Given the description of an element on the screen output the (x, y) to click on. 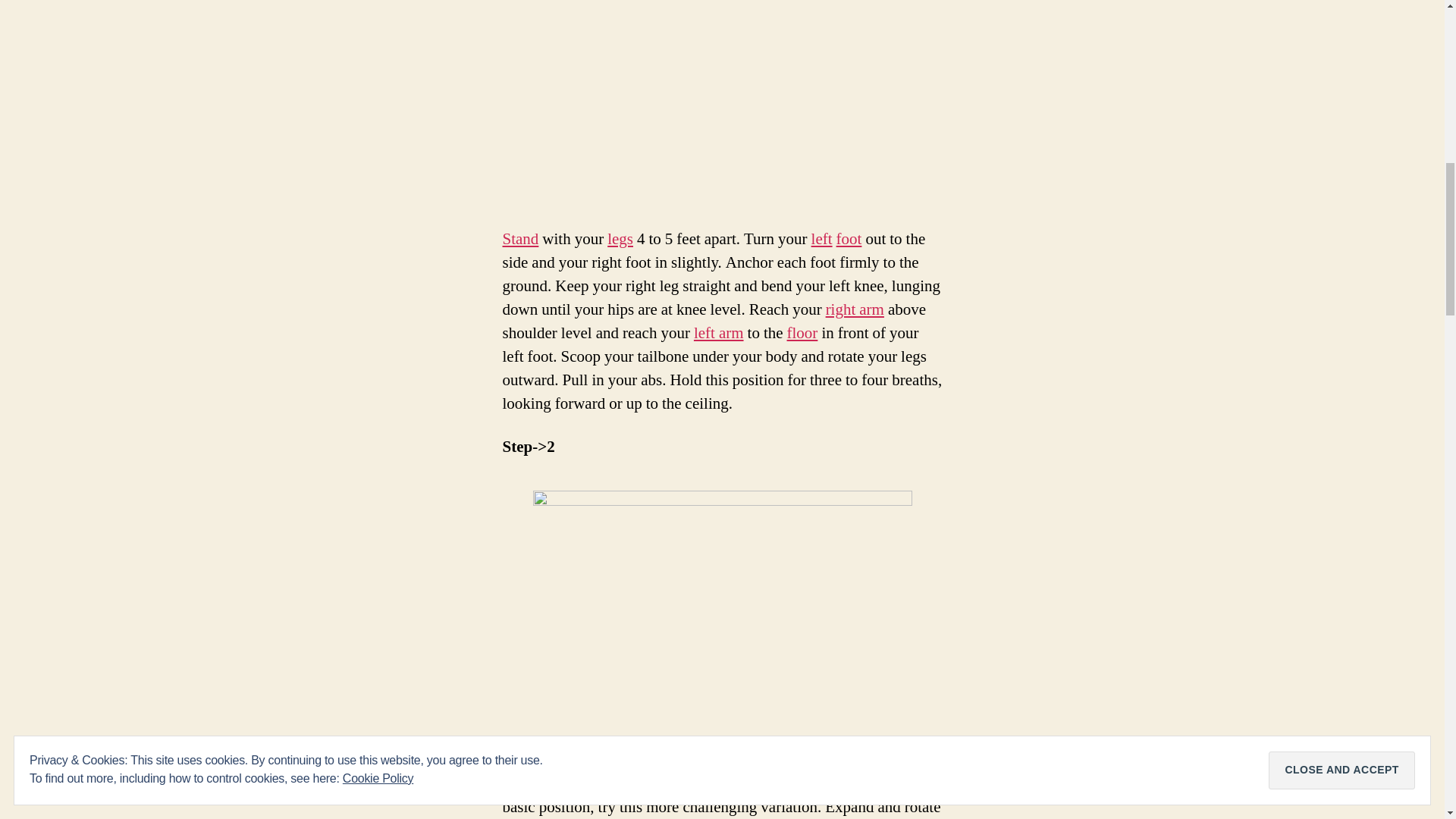
left arm (719, 332)
floor (802, 332)
Floor and ceiling functions (802, 332)
foot (848, 239)
left (821, 239)
Foot (848, 239)
step-23 (721, 615)
Relative direction (821, 239)
Right-arm (854, 309)
right arm (854, 309)
